Given the description of an element on the screen output the (x, y) to click on. 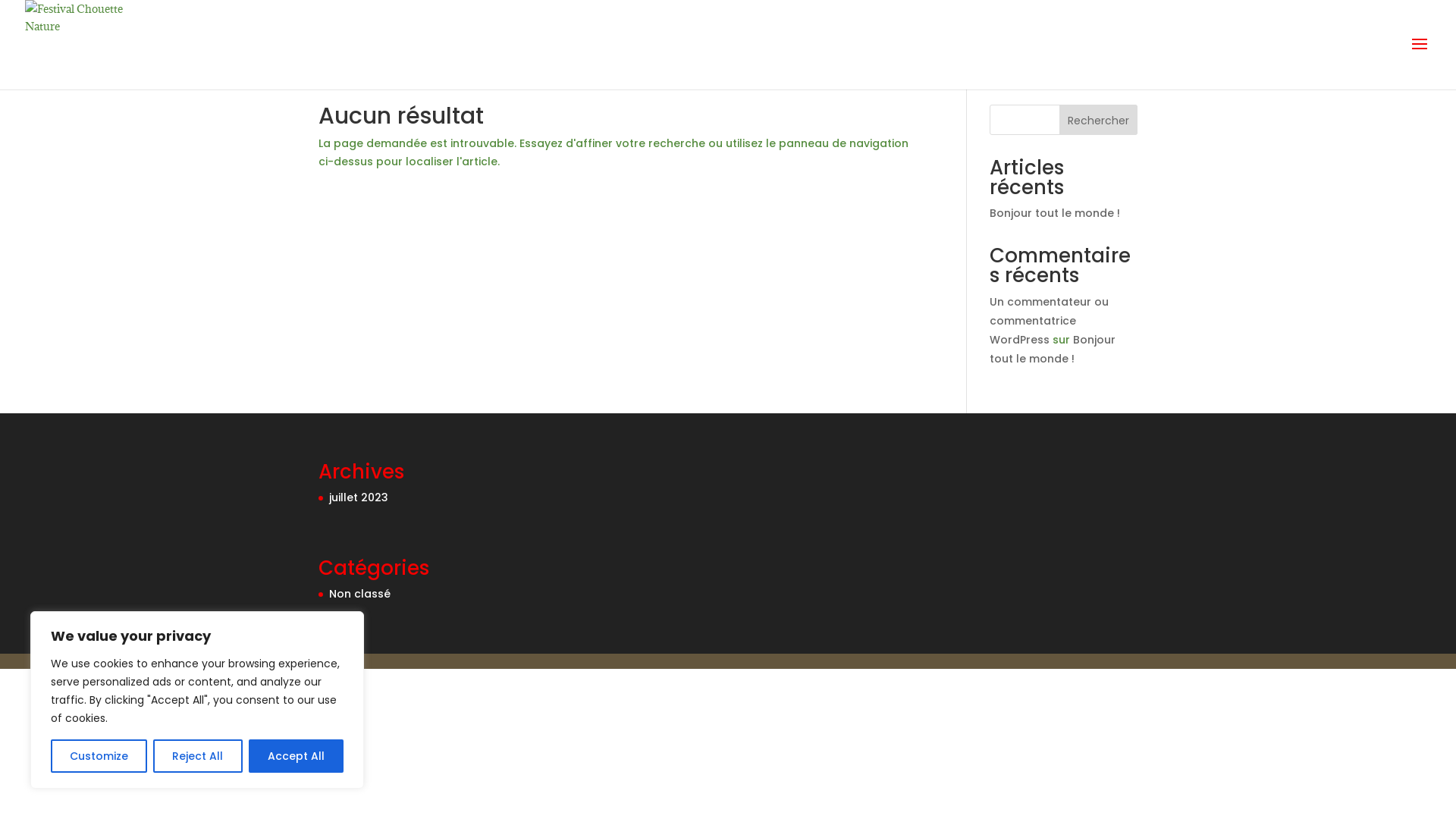
Un commentateur ou commentatrice WordPress Element type: text (1048, 320)
Customize Element type: text (98, 755)
Rechercher Element type: text (1098, 119)
Bonjour tout le monde ! Element type: text (1054, 212)
Accept All Element type: text (295, 755)
Bonjour tout le monde ! Element type: text (1052, 349)
Reject All Element type: text (197, 755)
juillet 2023 Element type: text (358, 497)
